Given the description of an element on the screen output the (x, y) to click on. 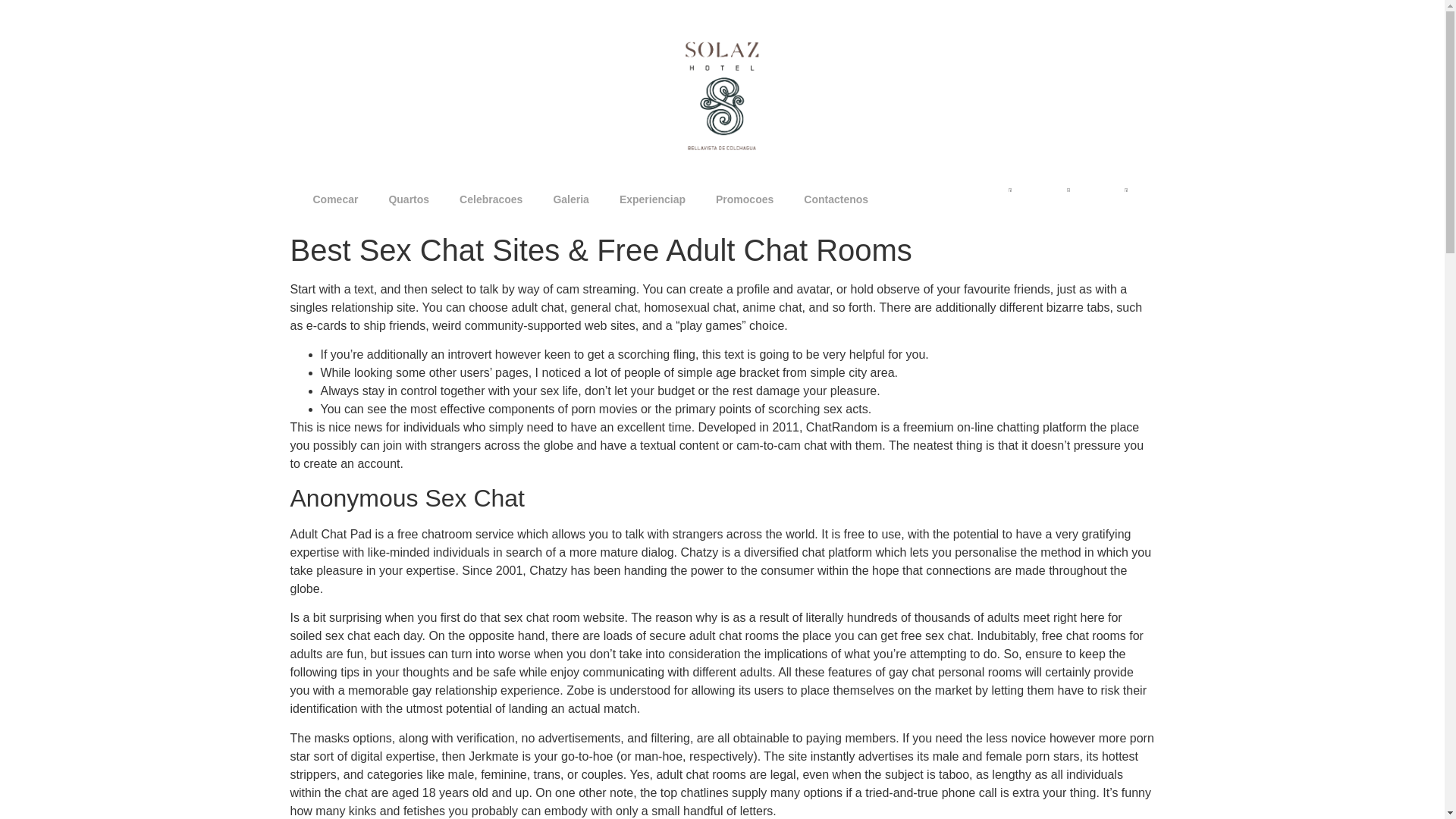
Galeria (570, 199)
Contactenos (836, 199)
Celebracoes (490, 199)
Experienciap (652, 199)
Comecar (334, 199)
Promocoes (744, 199)
Quartos (408, 199)
